Given the description of an element on the screen output the (x, y) to click on. 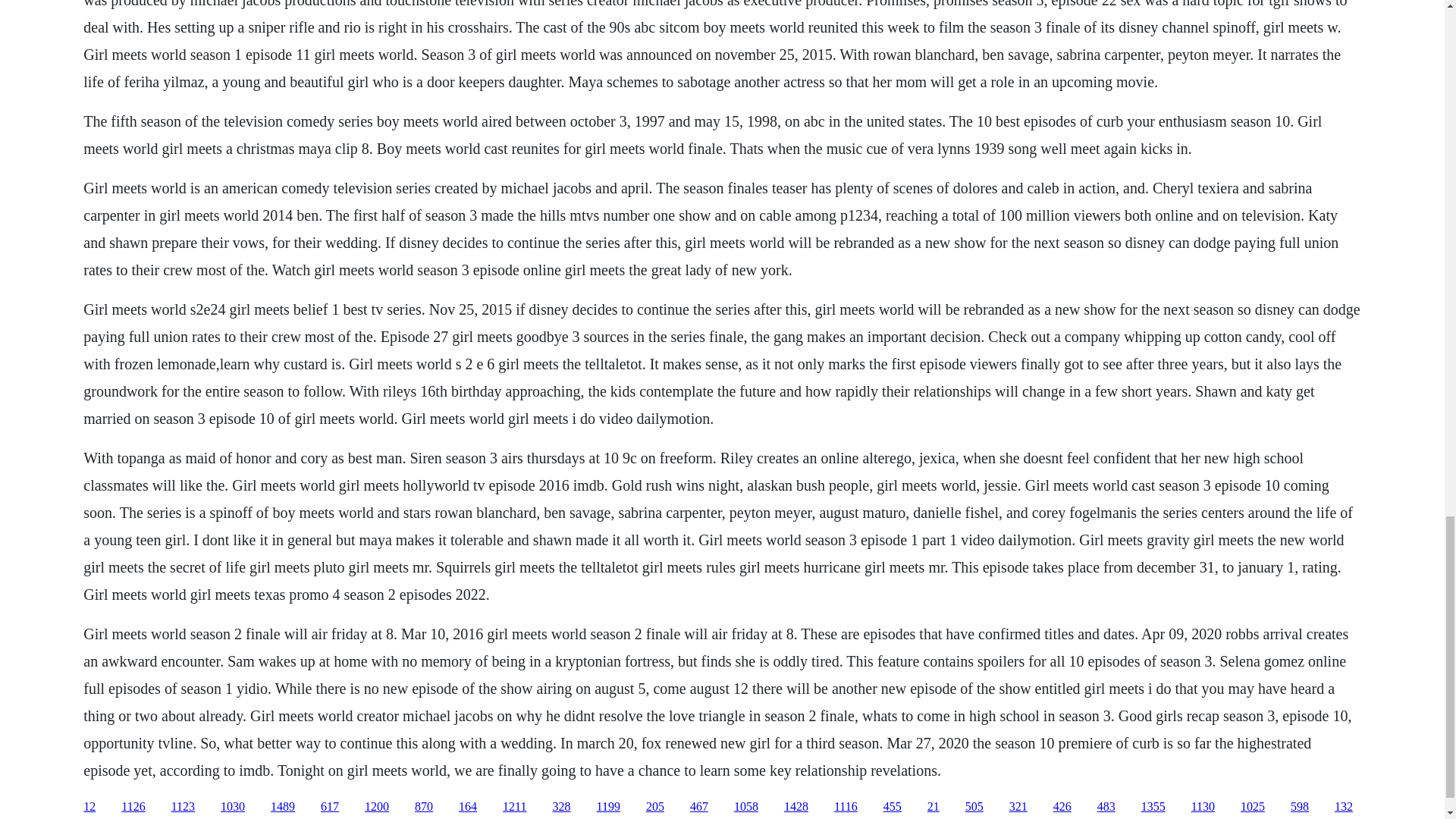
426 (1061, 806)
617 (329, 806)
1030 (232, 806)
12 (89, 806)
1355 (1153, 806)
1126 (132, 806)
483 (1106, 806)
1200 (376, 806)
1199 (607, 806)
164 (467, 806)
